Given the description of an element on the screen output the (x, y) to click on. 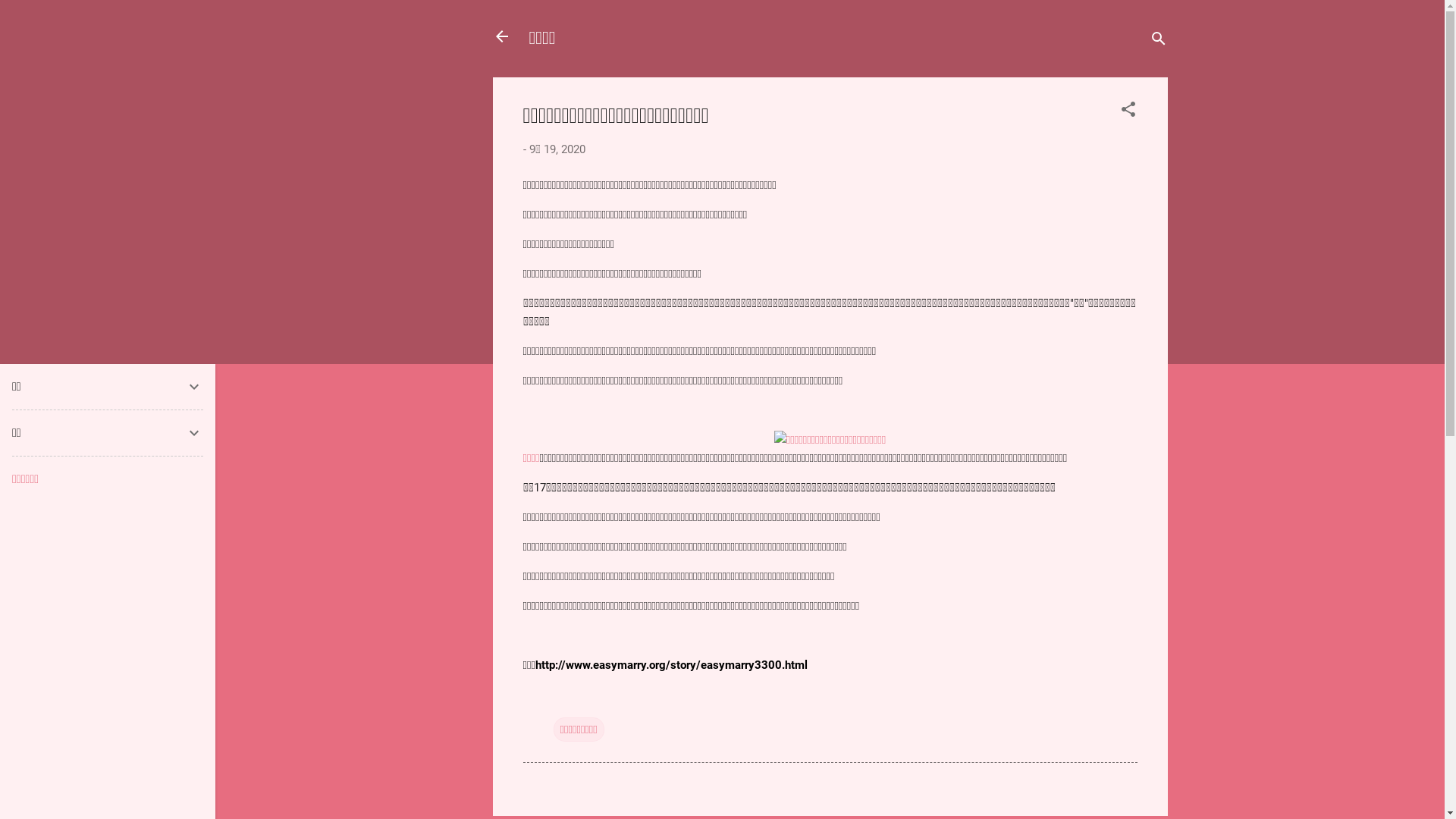
http://www.easymarry.org/story/easymarry3300.html Element type: text (671, 664)
